Given the description of an element on the screen output the (x, y) to click on. 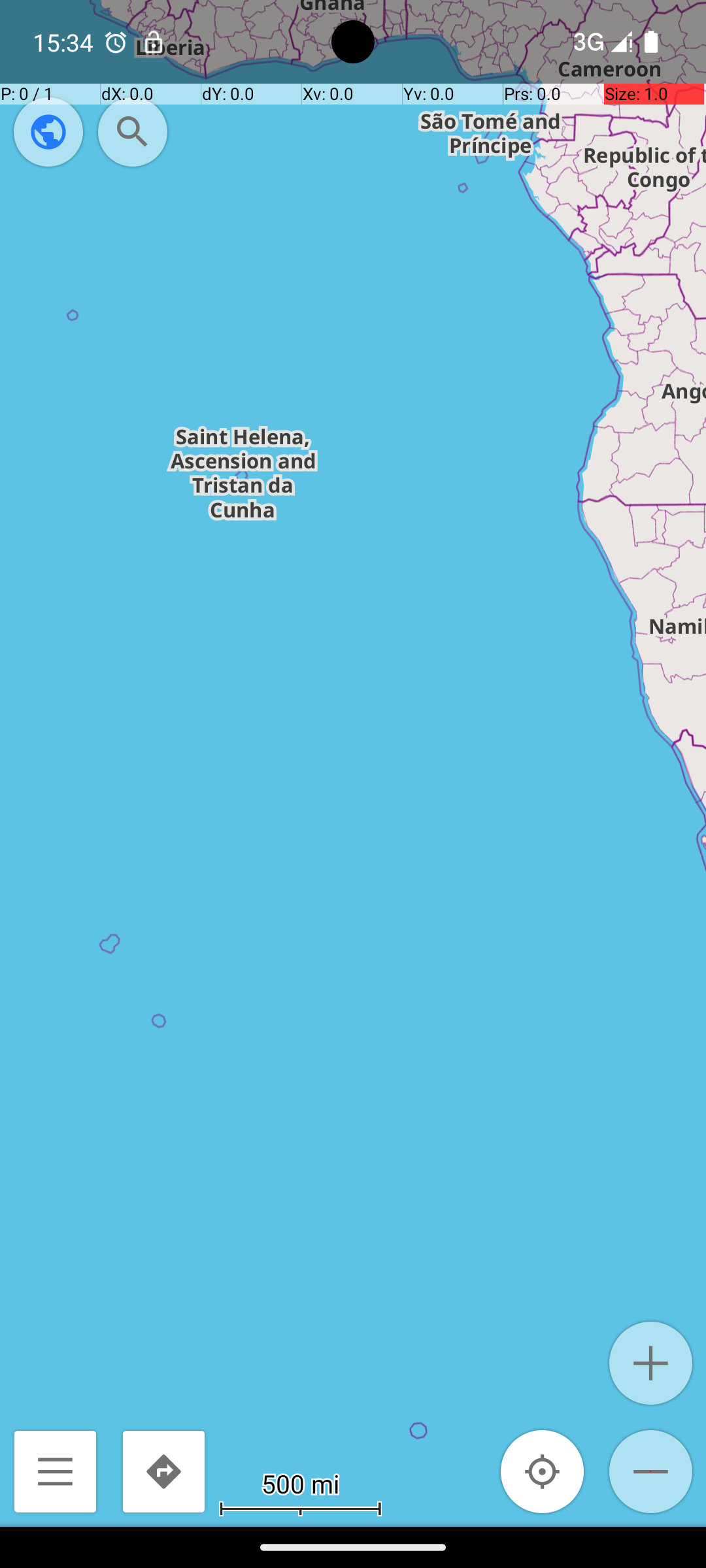
500 mi Element type: android.widget.TextView (299, 1483)
